Given the description of an element on the screen output the (x, y) to click on. 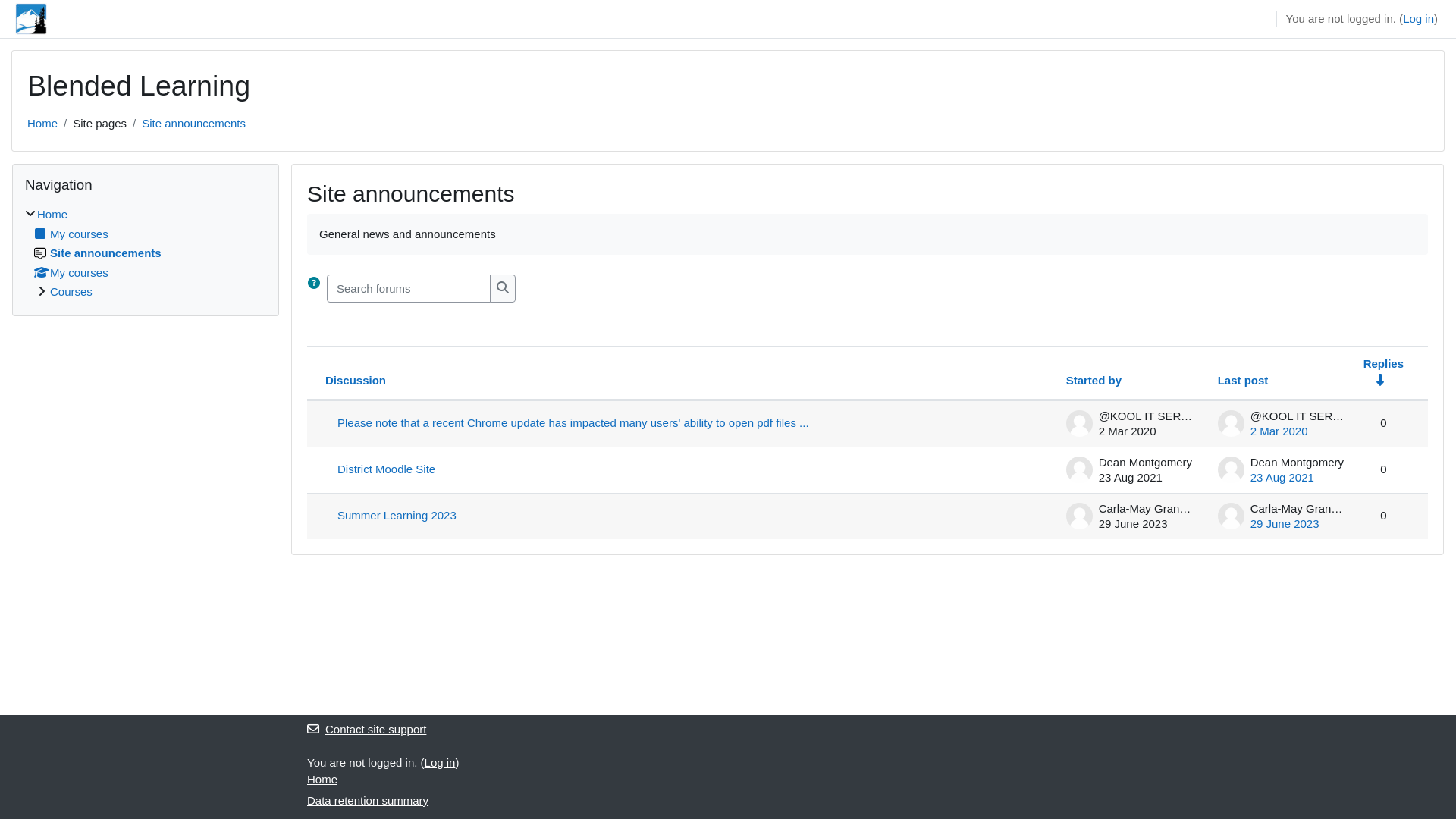
Picture of @KOOL IT SERVICES Element type: hover (1079, 422)
District Moodle Site Element type: text (689, 469)
Home Element type: text (52, 213)
Discussion Element type: text (355, 379)
Site announcements Element type: text (97, 252)
Summer Learning 2023 Element type: text (689, 515)
Picture of Carla-May Granberg Element type: hover (1230, 515)
29 June 2023 Element type: text (1284, 523)
Picture of Dean Montgomery Element type: hover (1230, 469)
Forum Element type: hover (40, 253)
23 Aug 2021 Element type: text (1282, 476)
Contact site support Element type: text (366, 728)
Help with Search Element type: hover (313, 282)
Picture of Dean Montgomery Element type: hover (1079, 469)
Picture of @KOOL IT SERVICES Element type: hover (1230, 422)
2 Mar 2020 Element type: text (1279, 430)
My courses Element type: text (71, 271)
Data retention summary Element type: text (367, 799)
Replies Element type: text (1383, 362)
Descending Element type: hover (1380, 379)
Skip Navigation Element type: text (11, 162)
Last post Element type: text (1242, 379)
Home Element type: text (42, 122)
Log in Element type: text (439, 761)
Search forums Element type: text (502, 288)
Site announcements Element type: text (193, 122)
Started by Element type: text (1093, 379)
Courses Element type: text (71, 291)
Log in Element type: text (1418, 19)
Home Element type: text (322, 778)
Picture of Carla-May Granberg Element type: hover (1079, 515)
My courses Element type: text (71, 233)
